Given the description of an element on the screen output the (x, y) to click on. 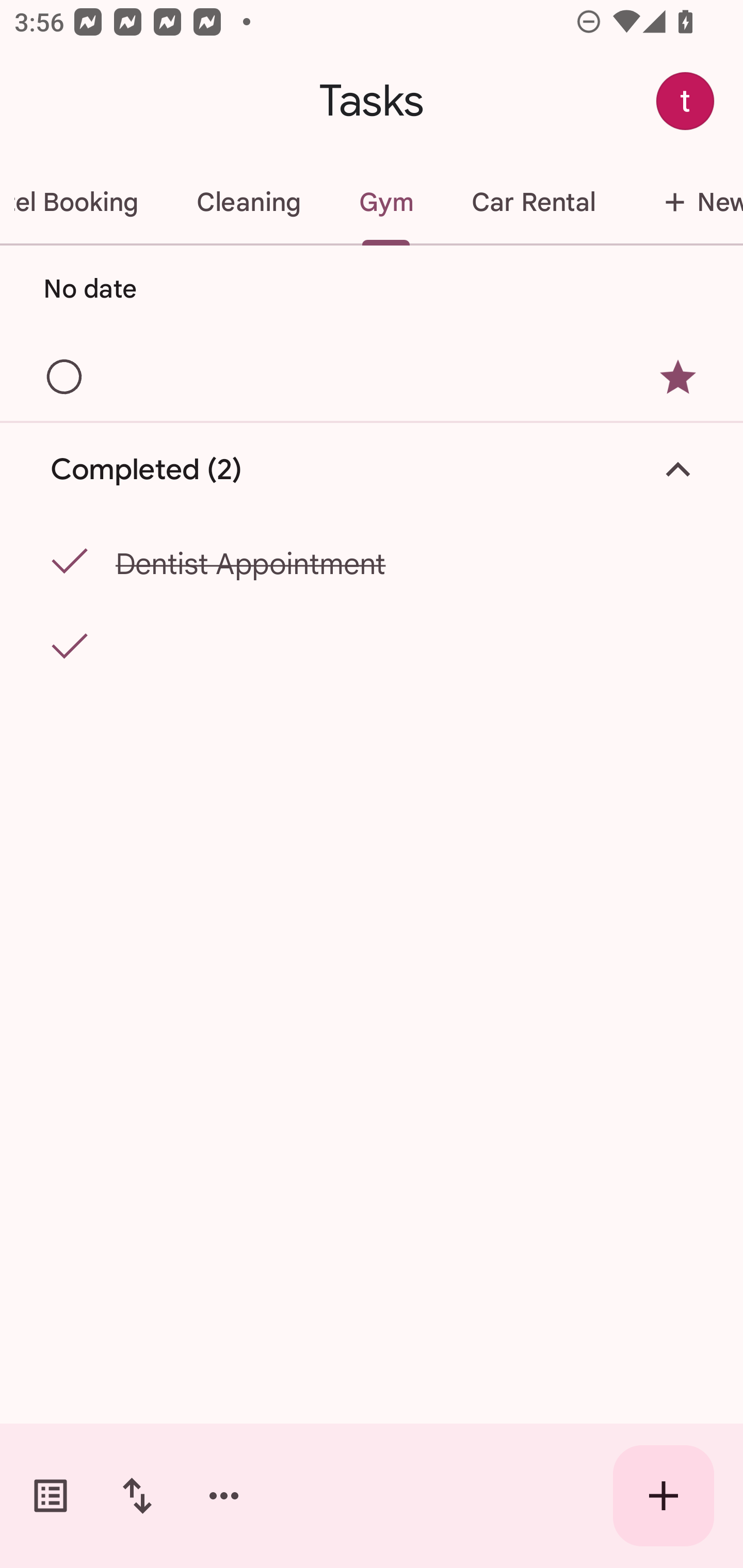
Hotel Booking (83, 202)
Cleaning (248, 202)
Car Rental (533, 202)
New list (683, 202)
(No title), Starred Remove star Mark as complete (371, 376)
Remove star (677, 376)
Mark as complete (64, 377)
Completed (2) (371, 470)
Mark as not complete (64, 561)
(No title)Completed task Mark as not complete (371, 644)
Mark as not complete (64, 647)
Switch task lists (50, 1495)
Create new task (663, 1495)
Change sort order (136, 1495)
More options (223, 1495)
